Given the description of an element on the screen output the (x, y) to click on. 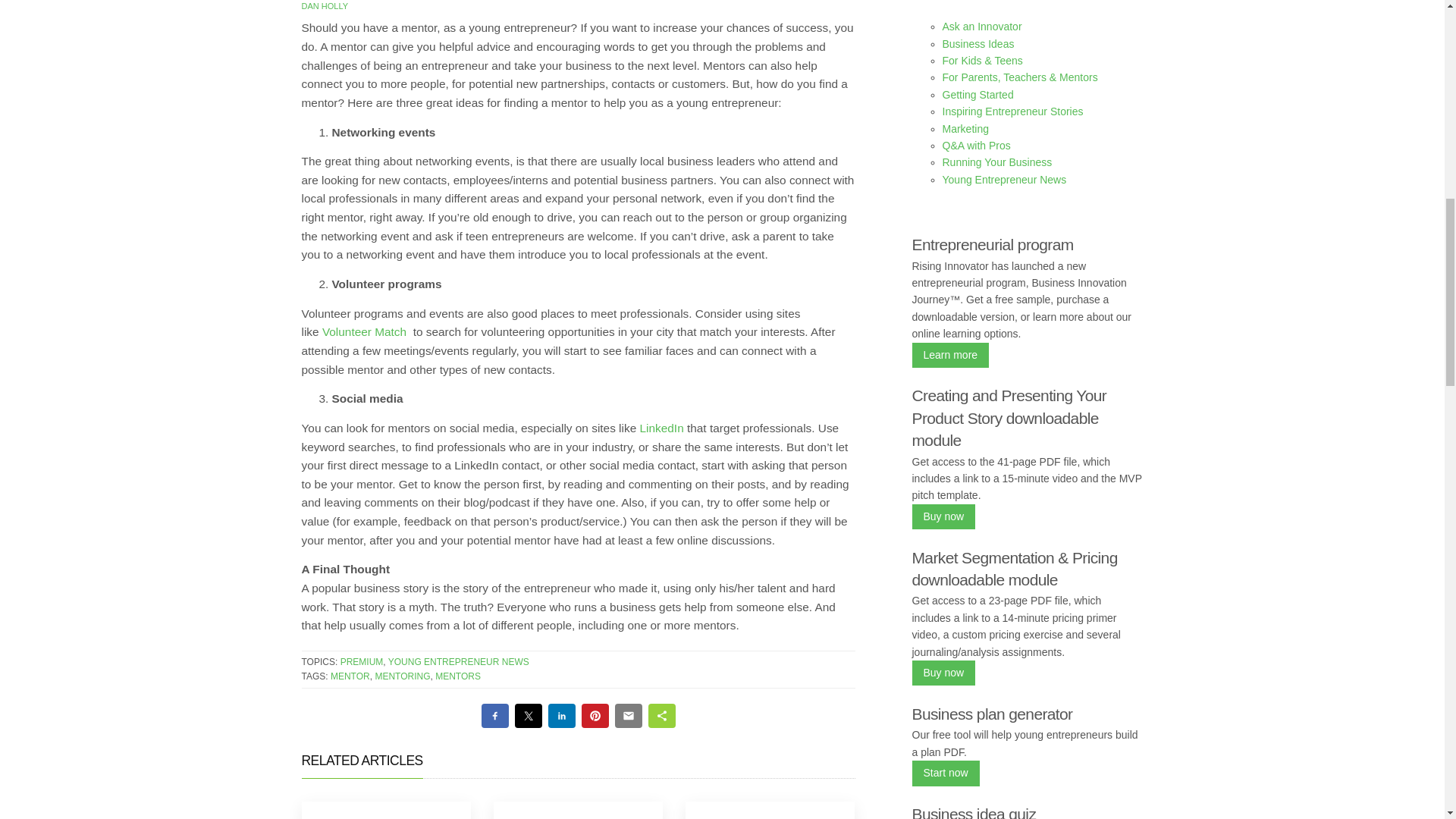
Entrepreneurial course (949, 355)
LinkedIn (662, 427)
MENTORS (457, 675)
MENTOR (349, 675)
DAN HOLLY (325, 5)
Posts by Dan Holly (325, 5)
PREMIUM (362, 661)
YOUNG ENTREPRENEUR NEWS (458, 661)
MENTORING (401, 675)
Volunteer Match  (365, 331)
